Given the description of an element on the screen output the (x, y) to click on. 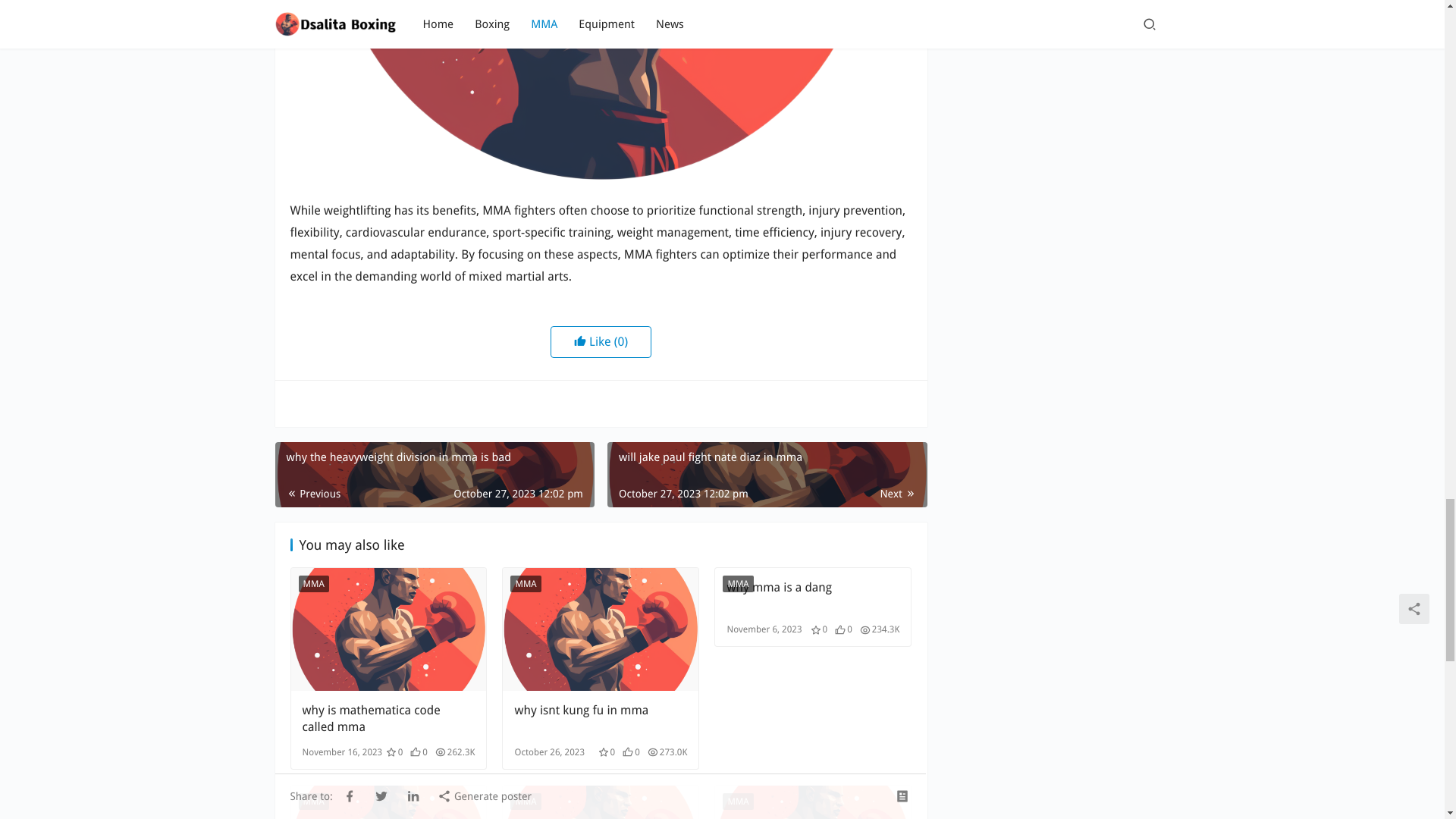
why is mathematica code called mma (387, 718)
why is mathematica code called mma (388, 629)
MMA (737, 801)
MMA (313, 583)
will mma dissolve in water (600, 802)
MMA (525, 583)
why mma is a dang (812, 595)
why mma fighters dont lift weights (601, 92)
will jake paul fight nate diaz in mma (766, 474)
why isnt kung fu in mma (600, 718)
why isnt kung fu in mma (600, 718)
MMA (313, 801)
will jake paul fight nate diaz in mma (766, 474)
why isnt kung fu in mma (600, 629)
will harris mma wiki (388, 802)
